Given the description of an element on the screen output the (x, y) to click on. 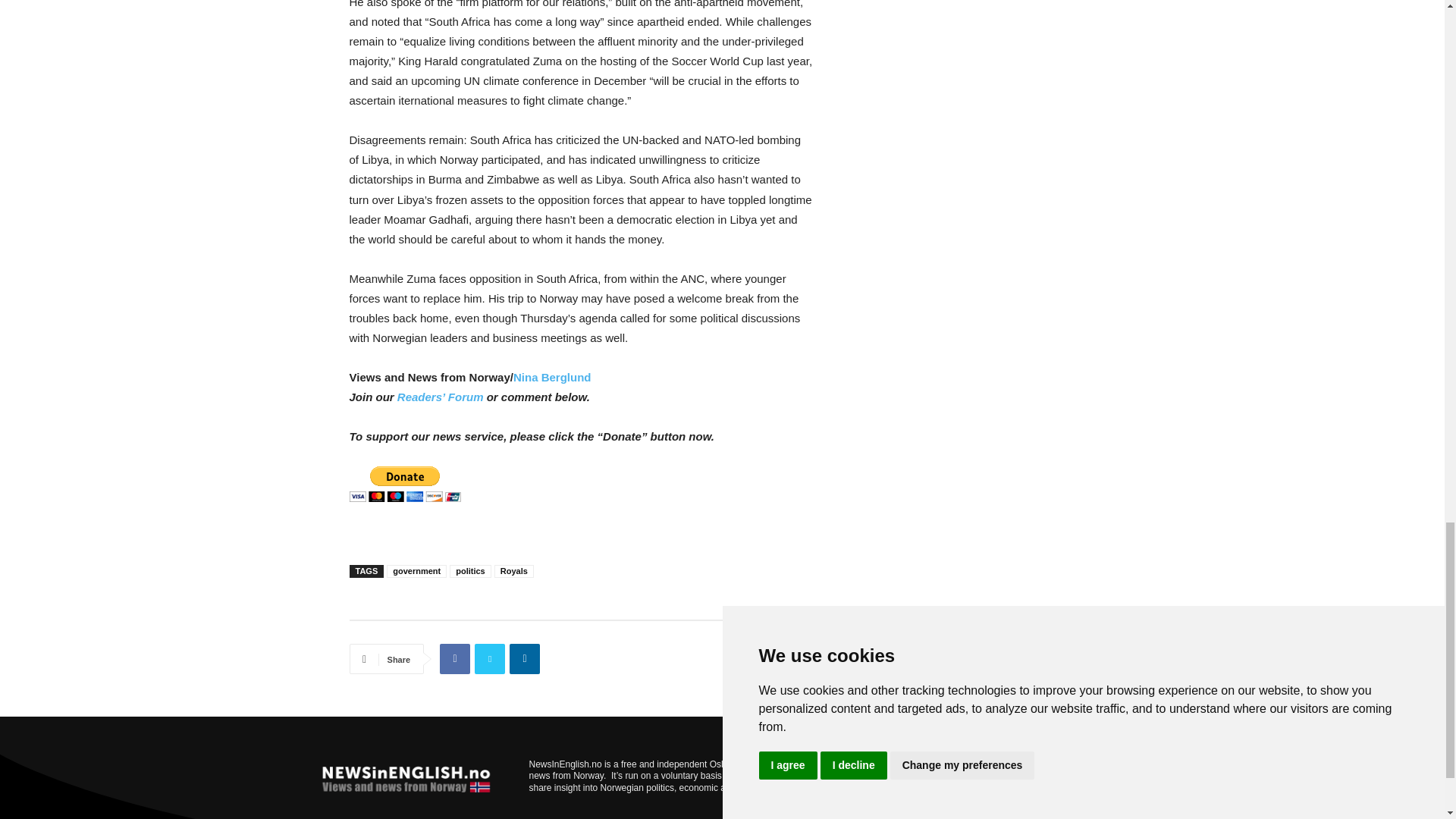
Twitter (489, 658)
Linkedin (524, 658)
Facebook (454, 658)
